Given the description of an element on the screen output the (x, y) to click on. 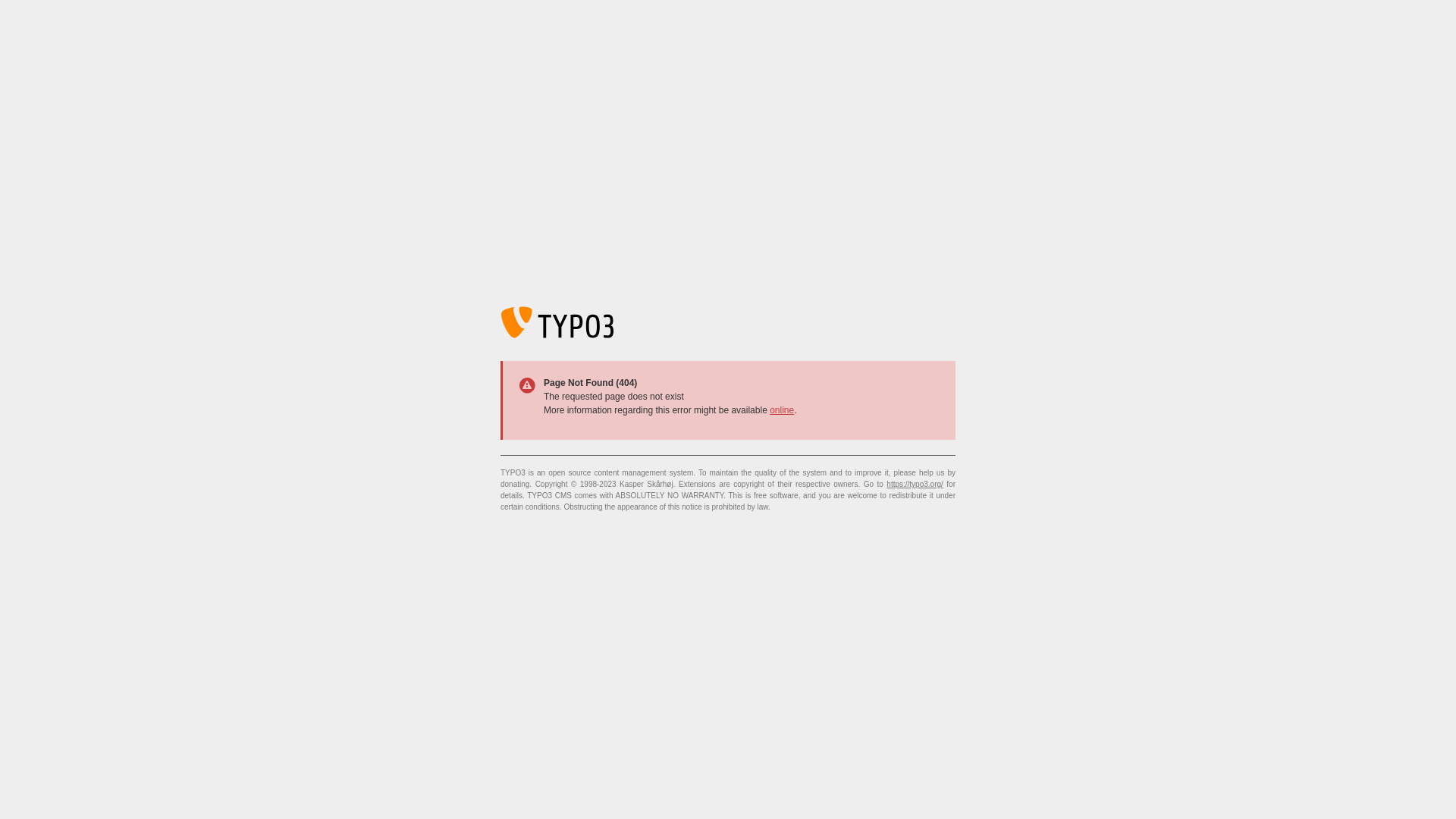
online Element type: text (781, 409)
https://typo3.org/ Element type: text (914, 484)
